Given the description of an element on the screen output the (x, y) to click on. 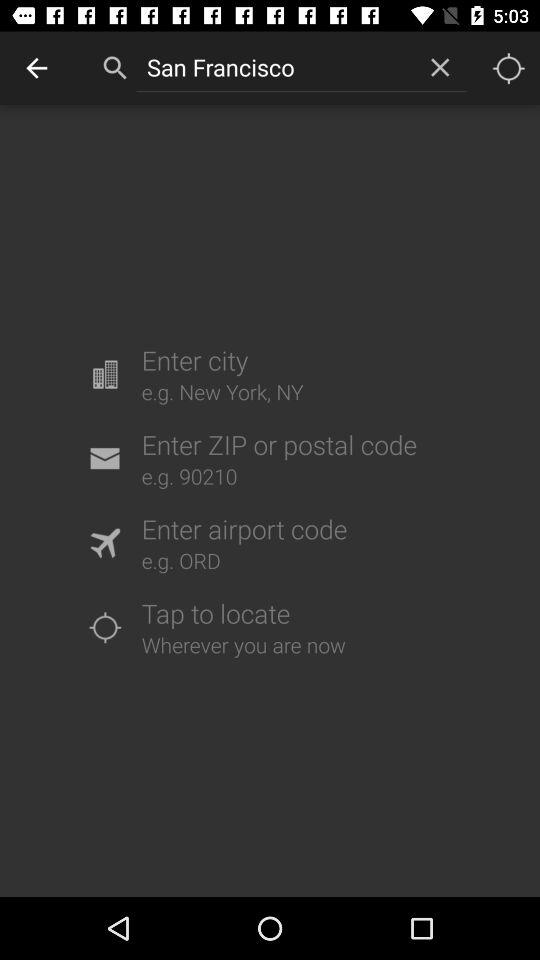
click the close button on the web page (440, 67)
click on the image next to enter city (104, 373)
select the flight icon on the web page (104, 542)
click on the icon at the top right corner of the page (508, 68)
click on the search icon (116, 67)
